Given the description of an element on the screen output the (x, y) to click on. 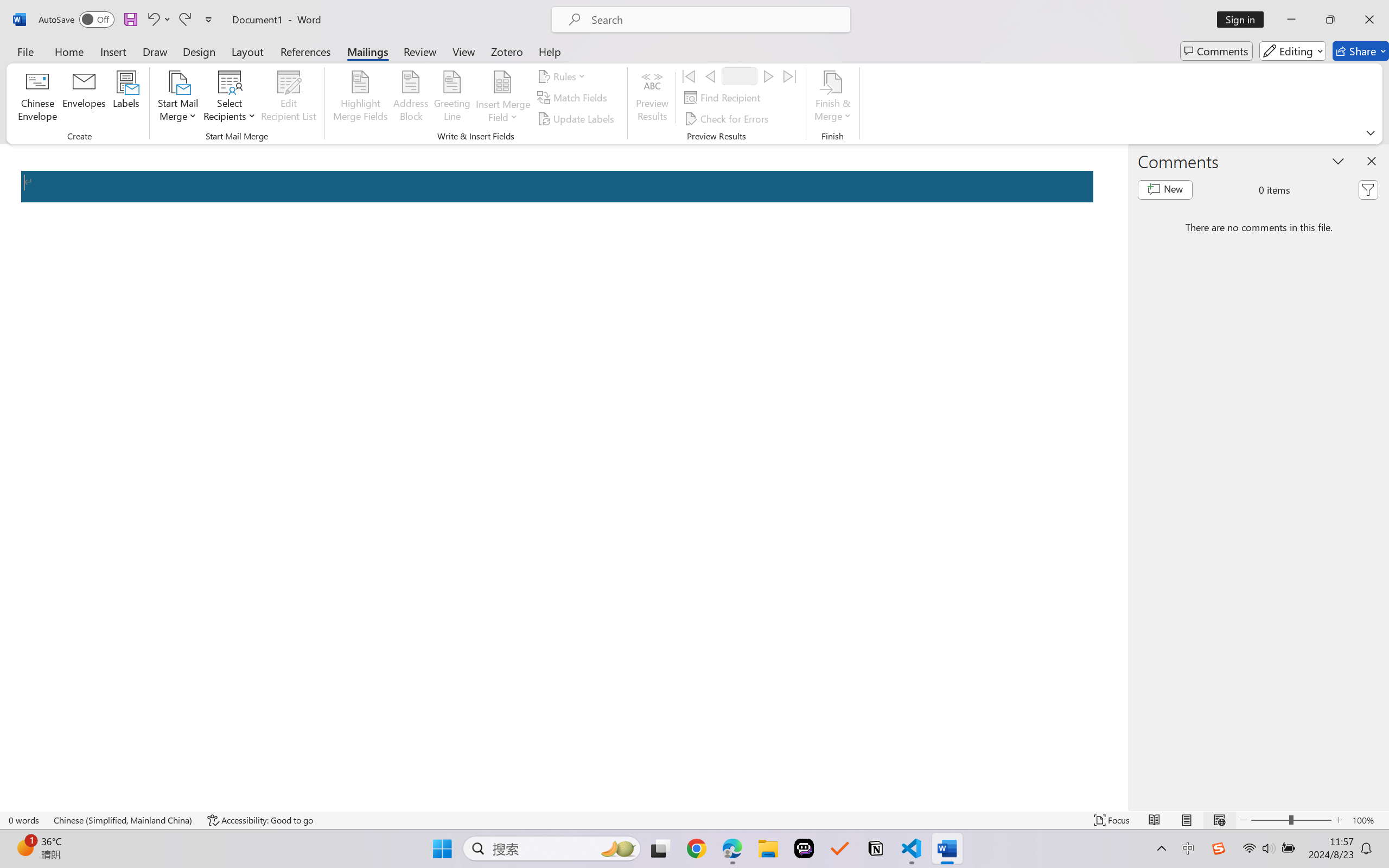
Undo Apply Quick Style Set (152, 19)
Insert Merge Field (502, 81)
Match Fields... (573, 97)
Next (768, 75)
Find Recipient... (723, 97)
